Given the description of an element on the screen output the (x, y) to click on. 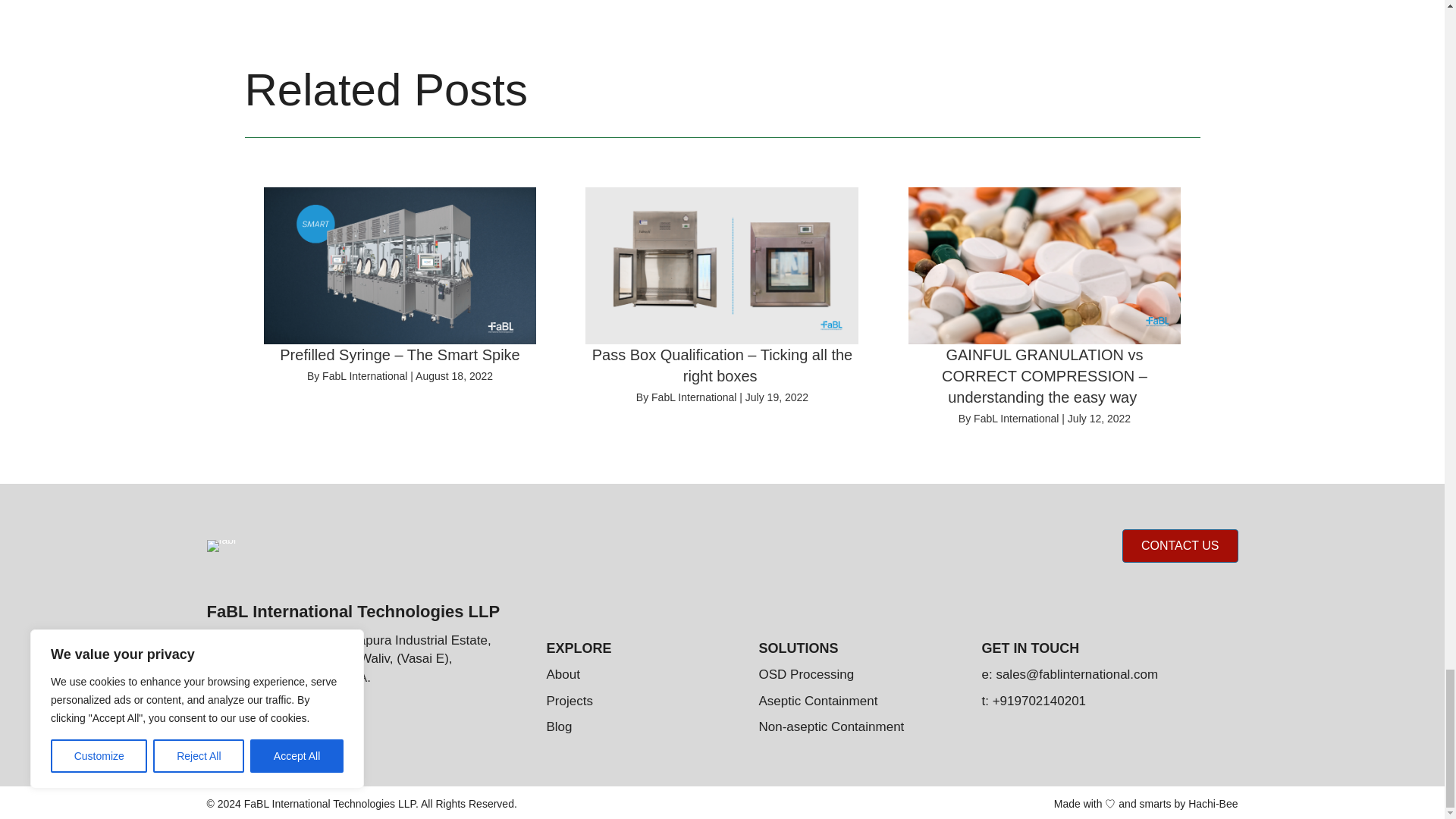
fabl (220, 545)
